Given the description of an element on the screen output the (x, y) to click on. 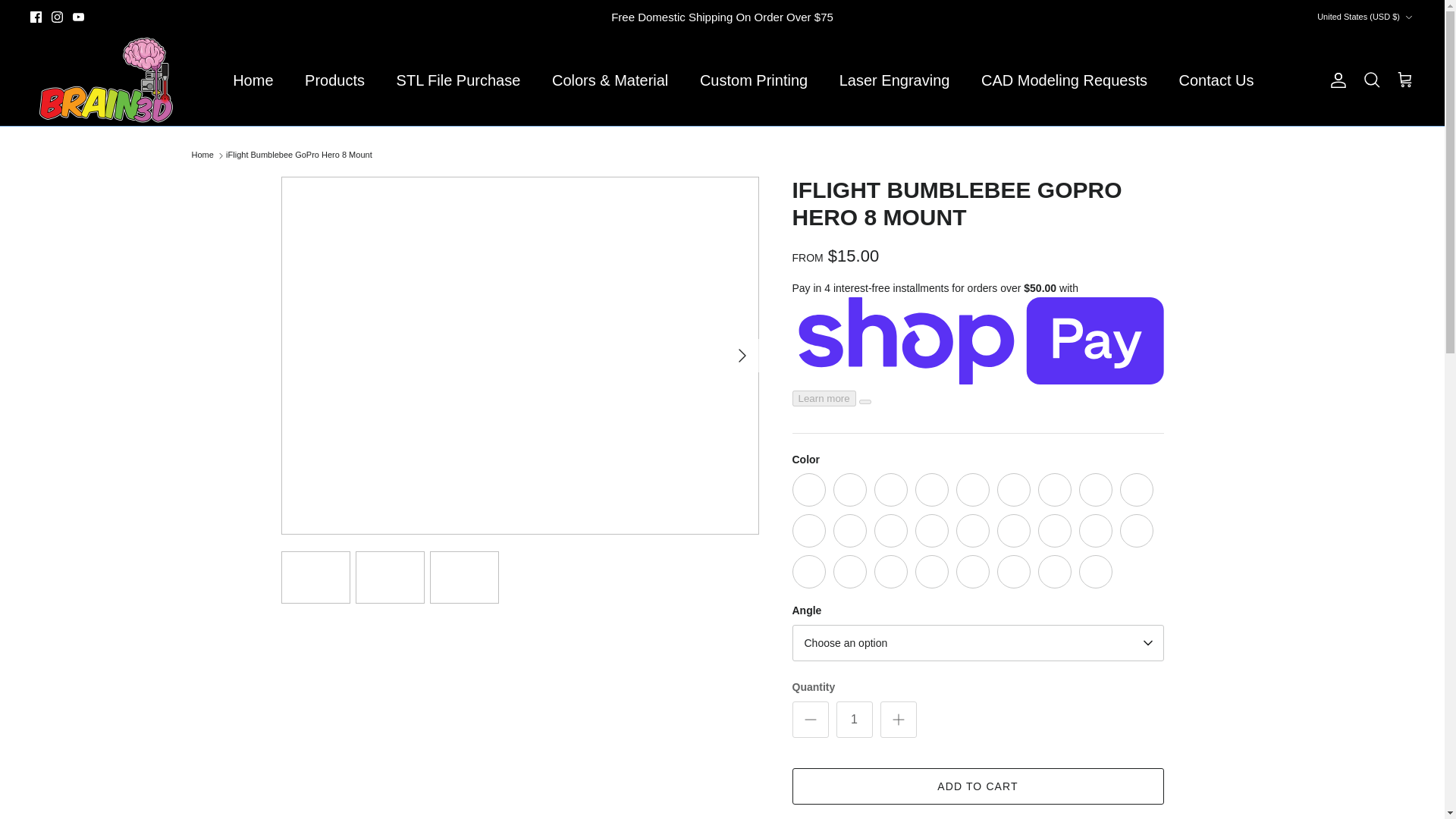
Minus (809, 719)
Plus (897, 719)
Facebook (36, 16)
Instagram (56, 16)
1 (853, 719)
Down (1408, 17)
Facebook (36, 16)
RIGHT (741, 355)
Youtube (78, 16)
Youtube (78, 16)
Instagram (56, 16)
Brain3D (106, 80)
